Given the description of an element on the screen output the (x, y) to click on. 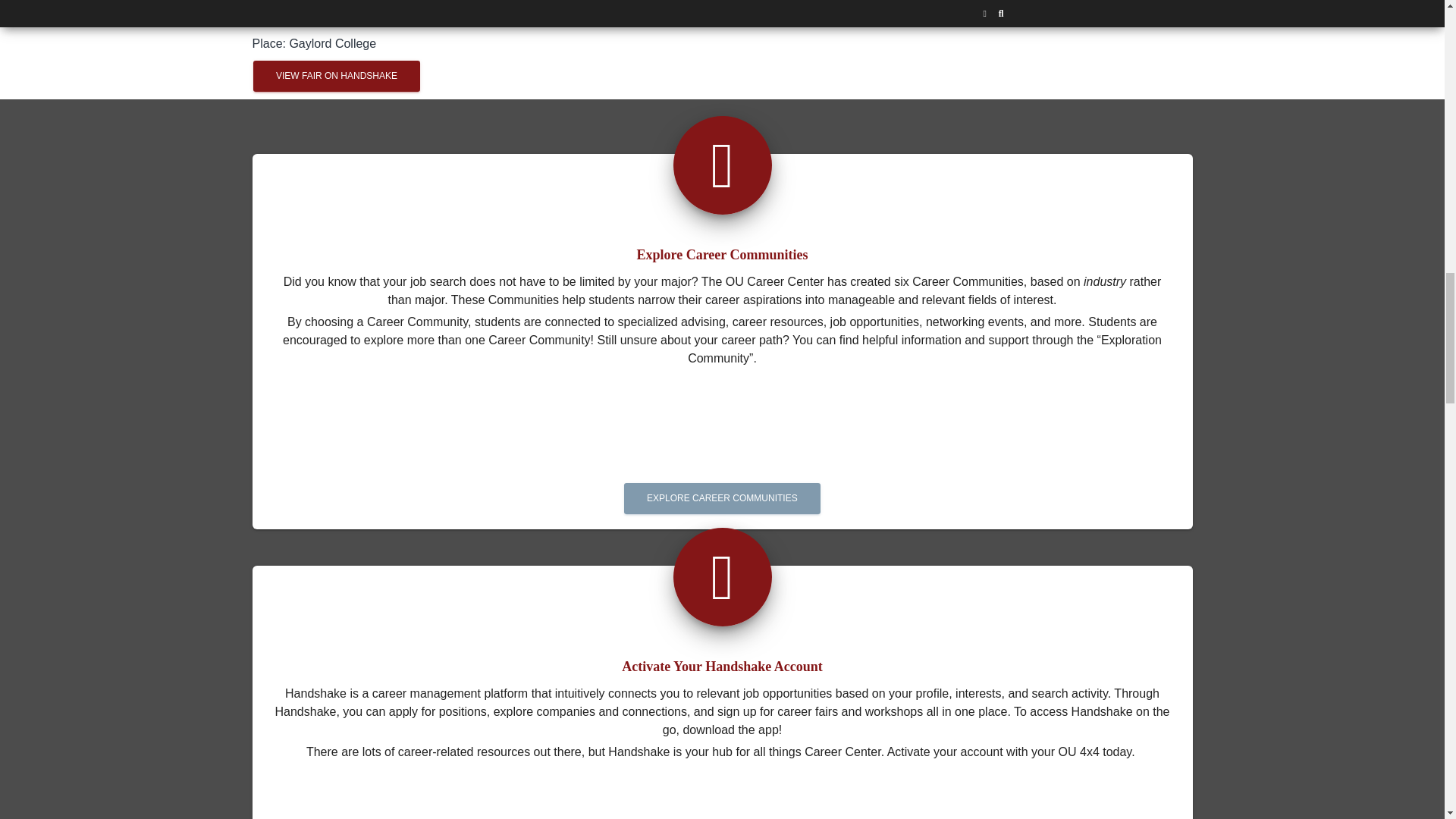
EXPLORE CAREER COMMUNITIES (722, 481)
VIEW FAIR ON HANDSHAKE (336, 75)
EXPLORE CAREER COMMUNITIES (722, 498)
